Given the description of an element on the screen output the (x, y) to click on. 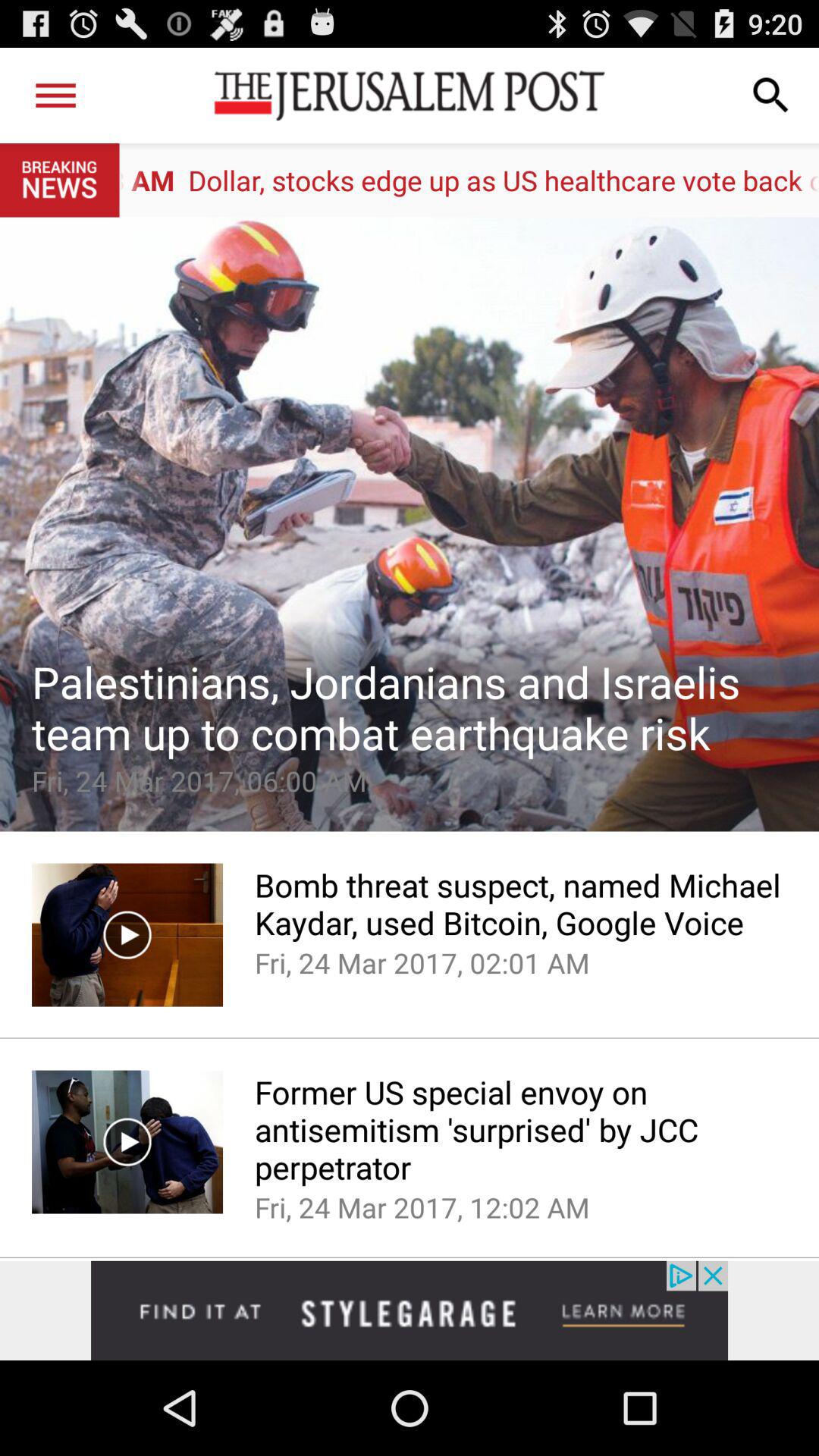
click on the play button in the second row (126, 1141)
click on the play button beside bomb threat suspect named michael kaydar used bitcoin google voice (126, 934)
click on the video which is beside text former us special envoy on antisemitism surprised by jcc prepetrator (126, 1142)
select the text which is beside the breaking news (469, 179)
